Given the description of an element on the screen output the (x, y) to click on. 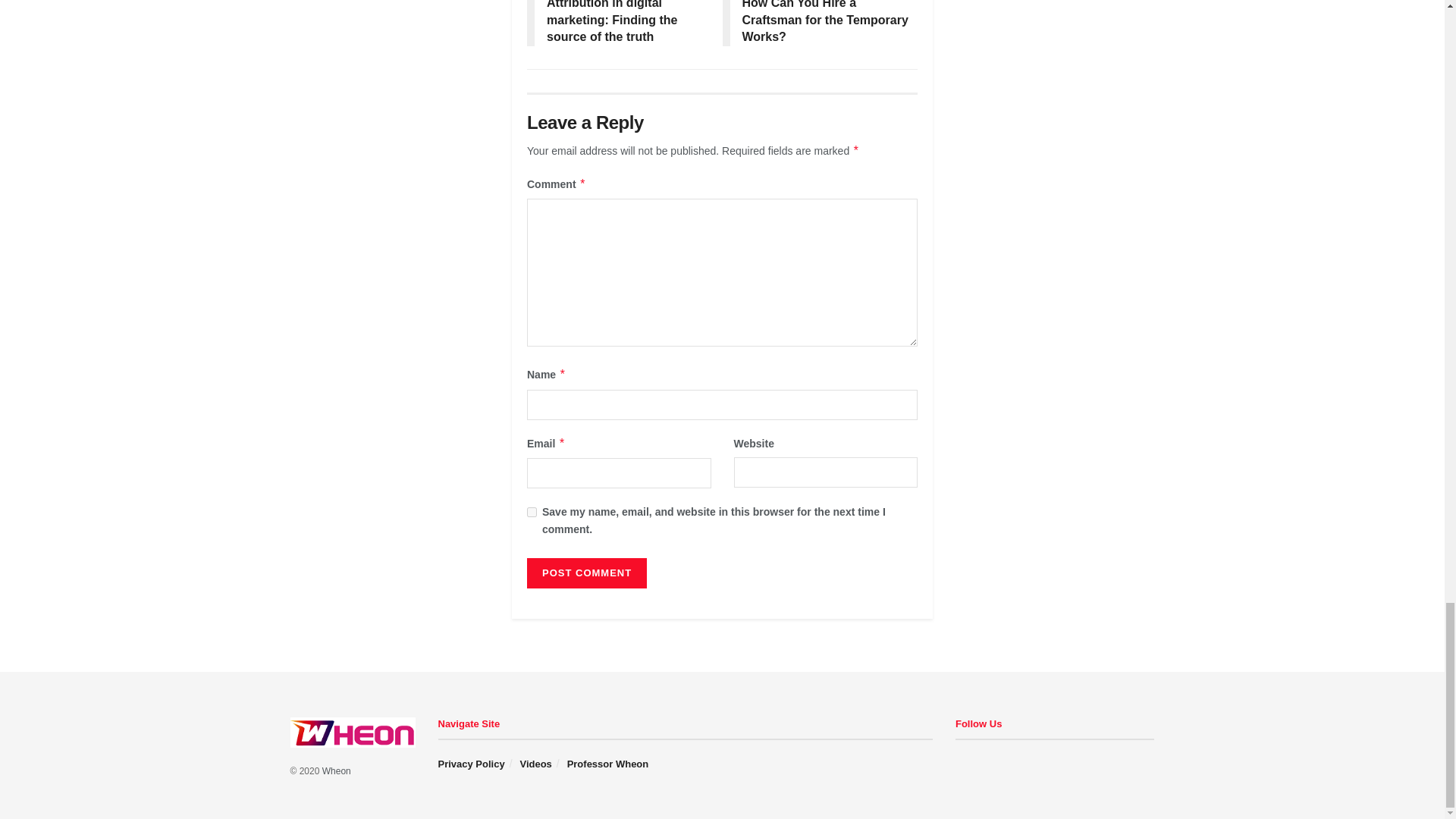
yes (532, 511)
Post Comment (586, 572)
Post Comment (586, 572)
